Given the description of an element on the screen output the (x, y) to click on. 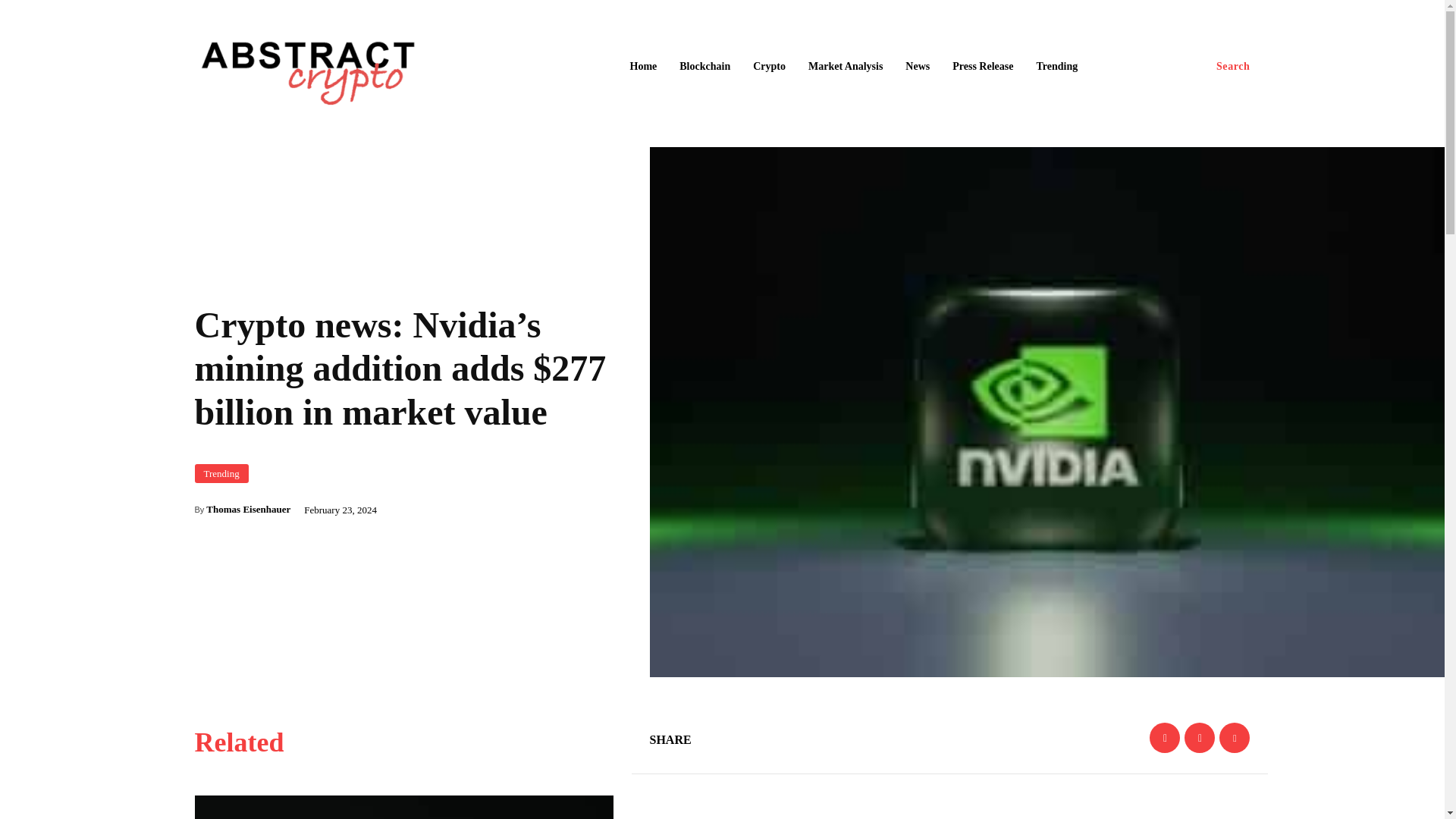
Home (642, 66)
Market Analysis (844, 66)
Trending (1055, 66)
Search (1232, 66)
Thomas Eisenhauer (247, 509)
Press Release (982, 66)
Crypto (769, 66)
News (917, 66)
